Given the description of an element on the screen output the (x, y) to click on. 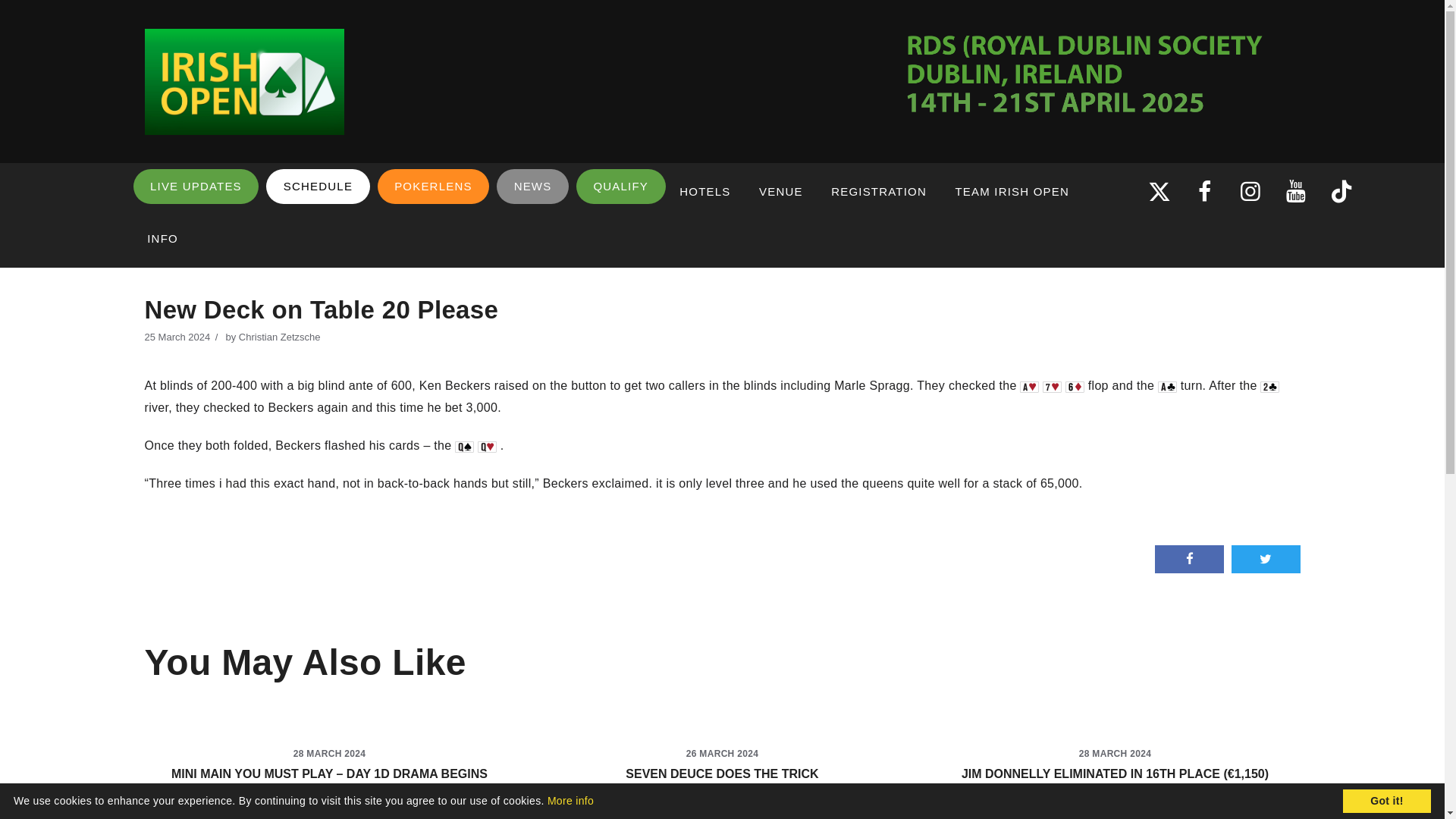
POKERLENS (433, 186)
VENUE (780, 192)
INFO (162, 238)
REGISTRATION (878, 192)
HOTELS (705, 192)
SCHEDULE (317, 186)
LIVE UPDATES (196, 186)
QUALIFY (620, 186)
NEWS (532, 186)
TEAM IRISH OPEN (1011, 192)
